Given the description of an element on the screen output the (x, y) to click on. 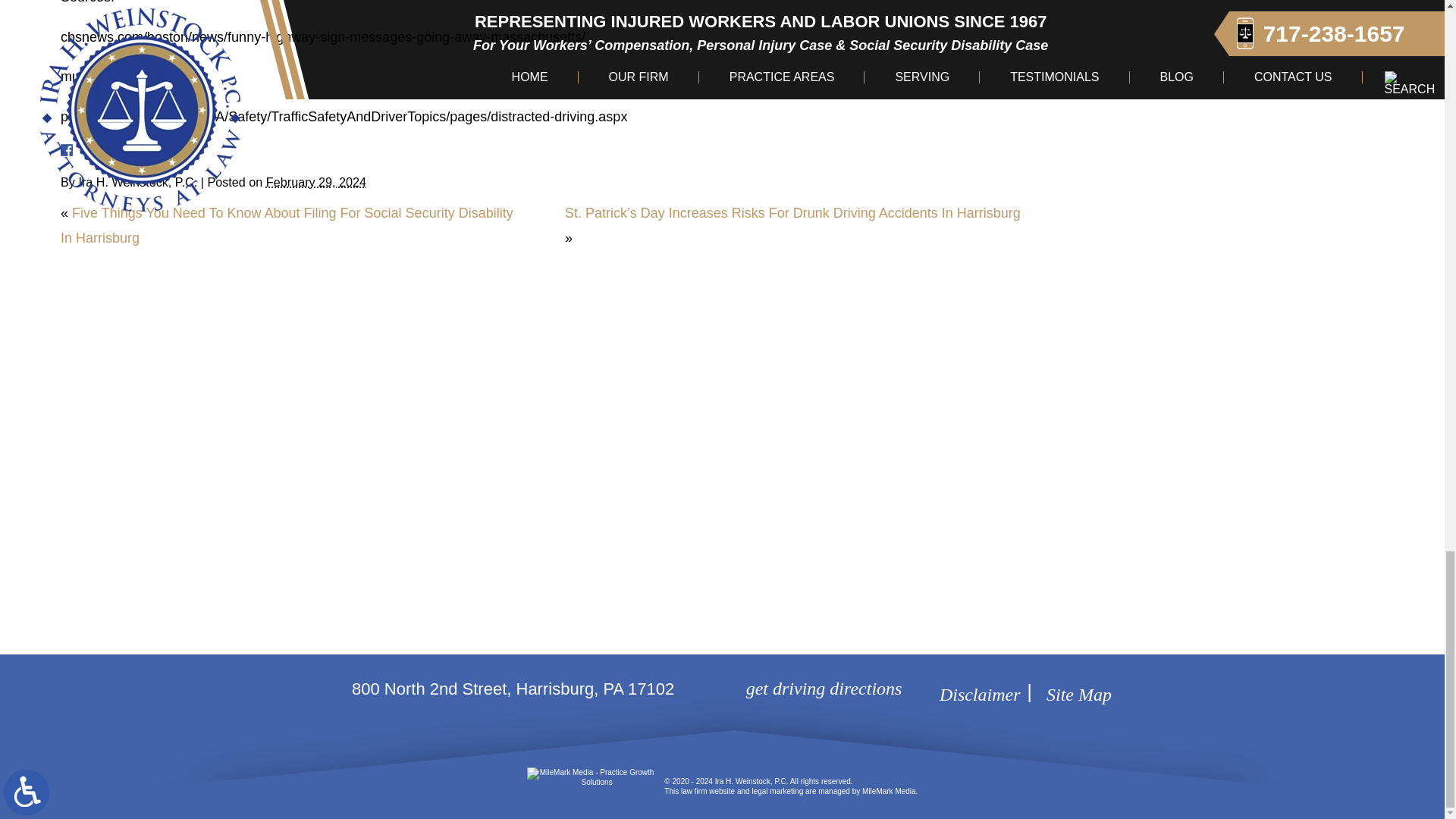
Twitter (95, 150)
LinkedIn (106, 150)
2024-02-29T06:31:42-0800 (316, 182)
Facebook (85, 150)
